Given the description of an element on the screen output the (x, y) to click on. 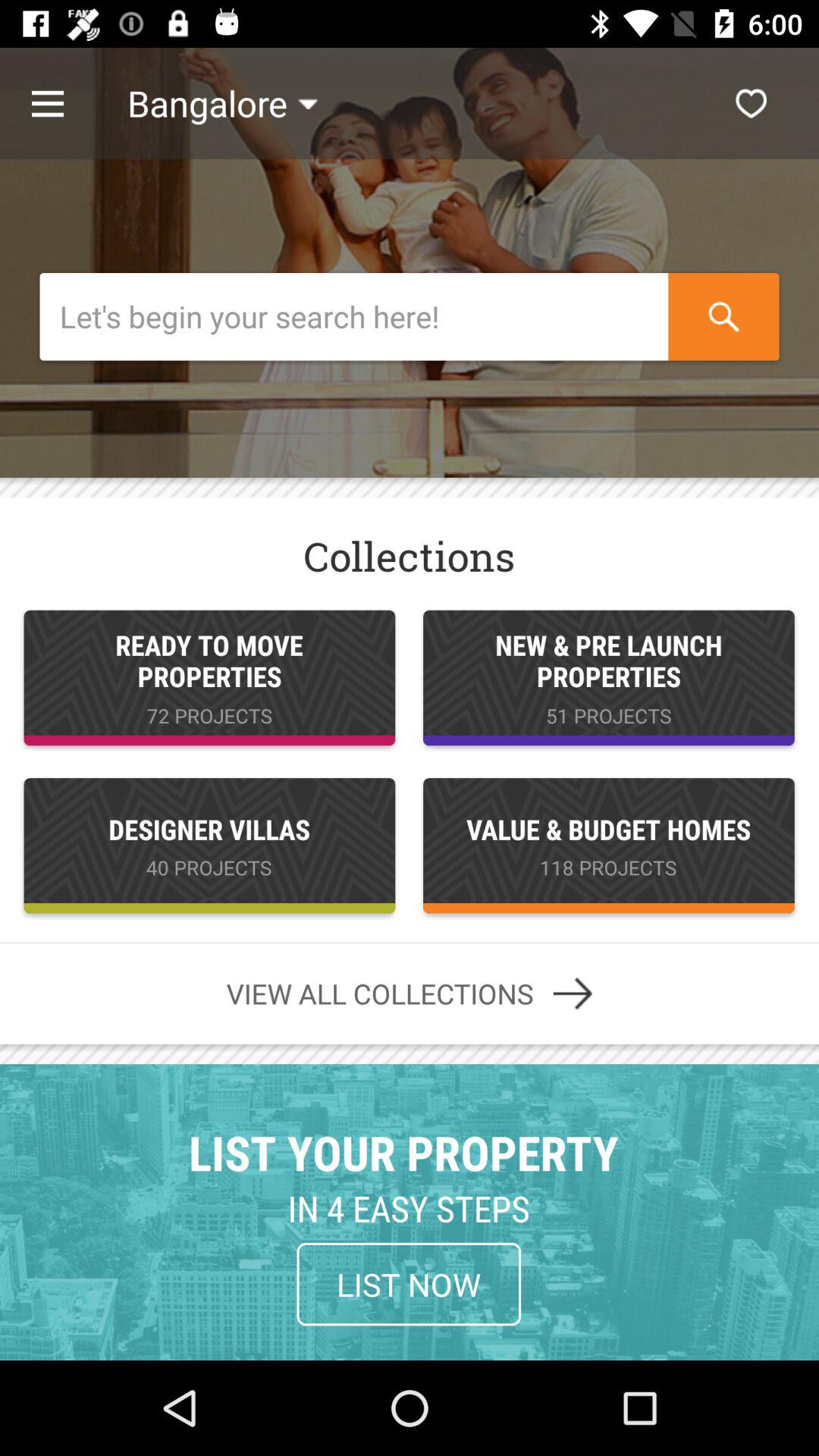
choose icon to the right of the bangalore (751, 103)
